Given the description of an element on the screen output the (x, y) to click on. 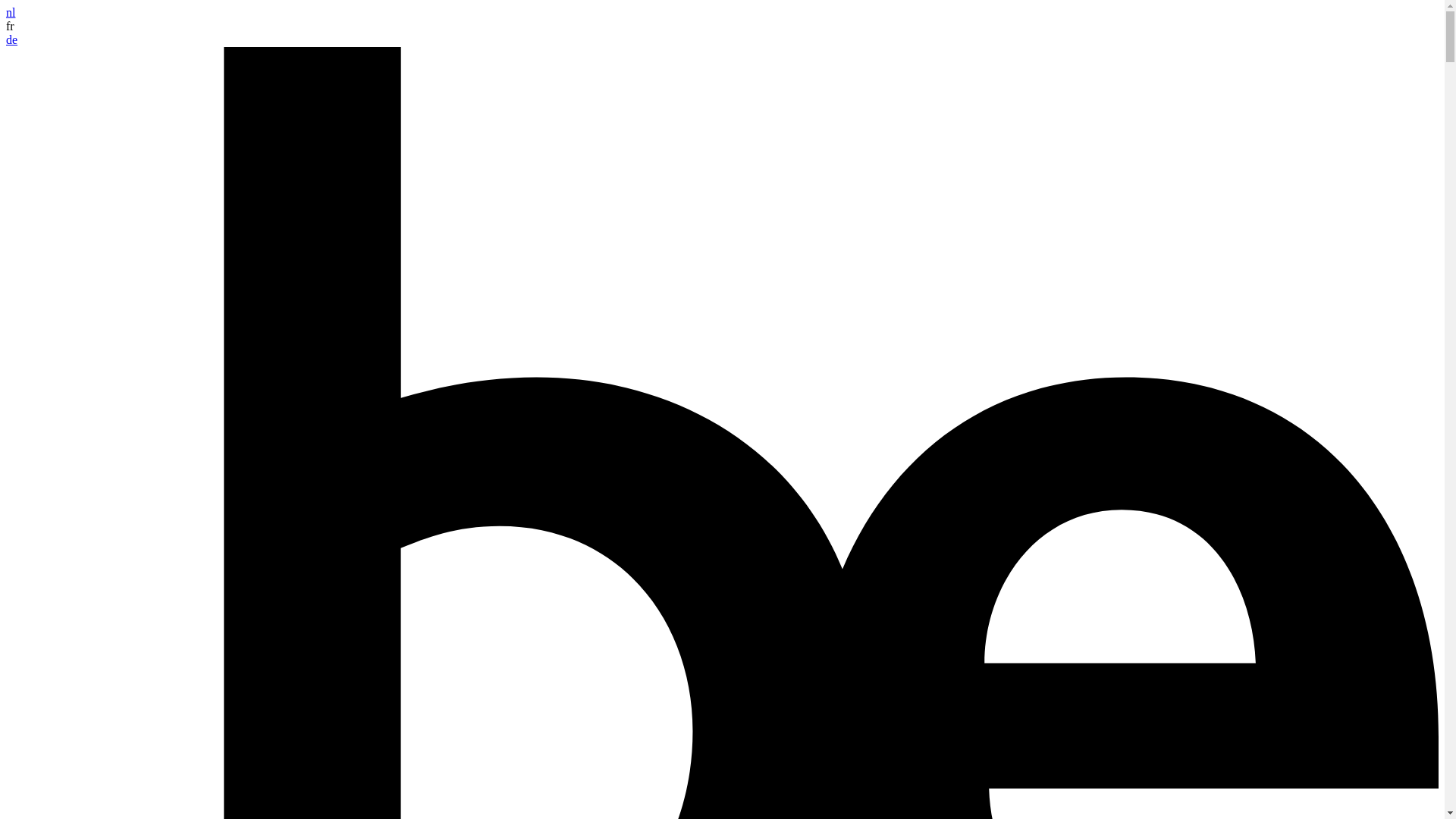
nl Element type: text (10, 12)
de Element type: text (11, 39)
